Given the description of an element on the screen output the (x, y) to click on. 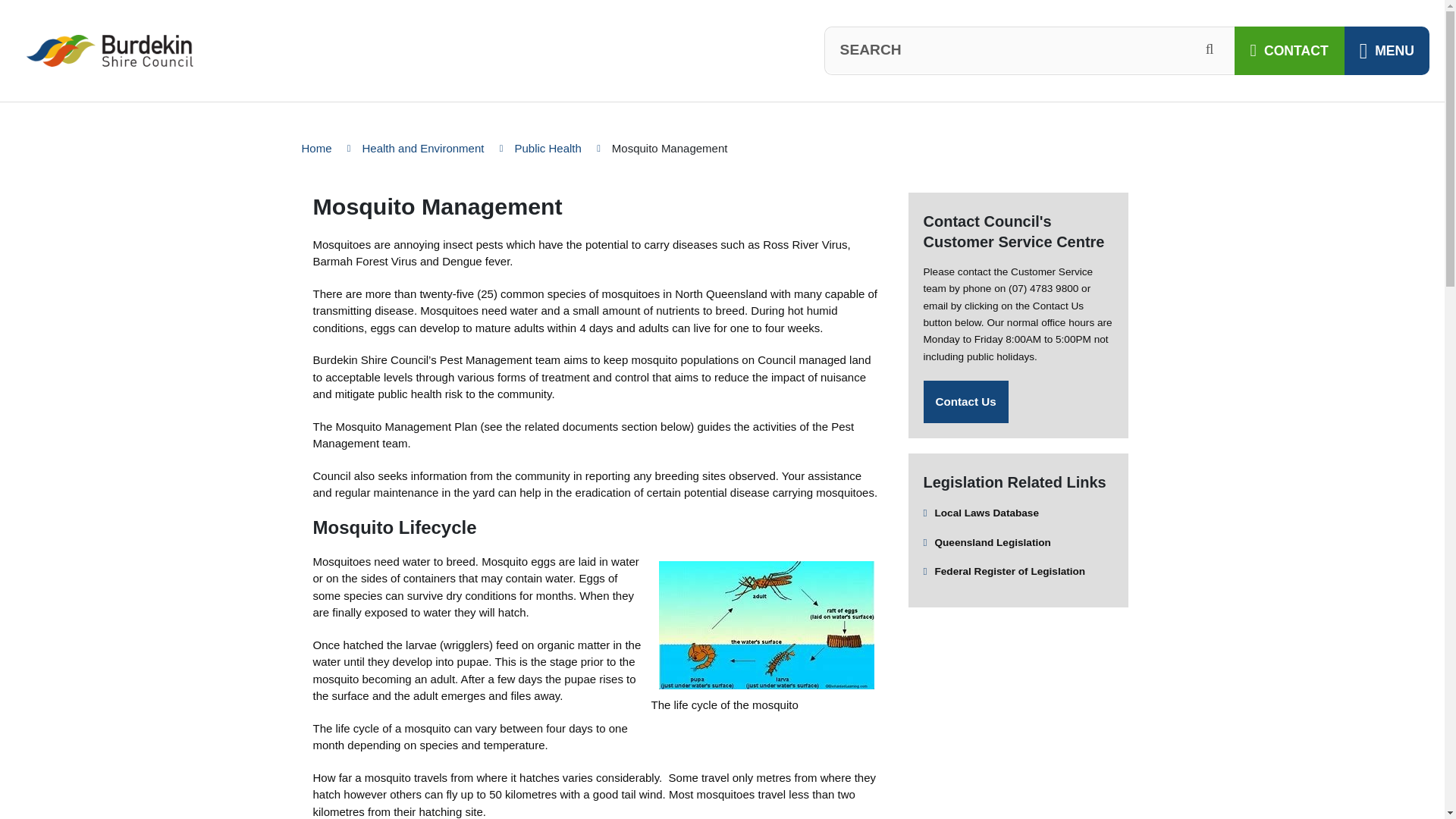
CONTACT (1288, 50)
